Given the description of an element on the screen output the (x, y) to click on. 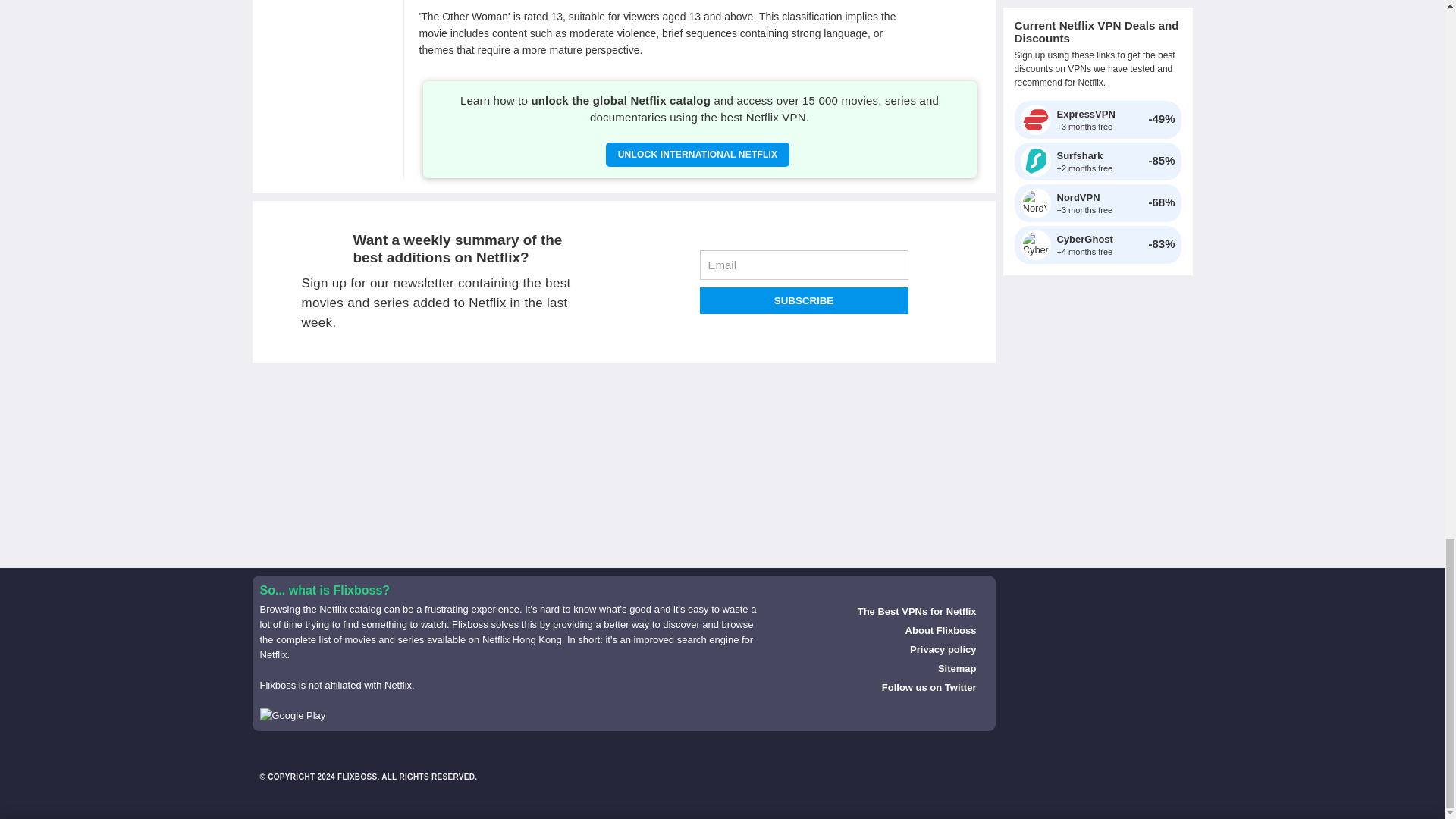
Subscribe (802, 300)
